Given the description of an element on the screen output the (x, y) to click on. 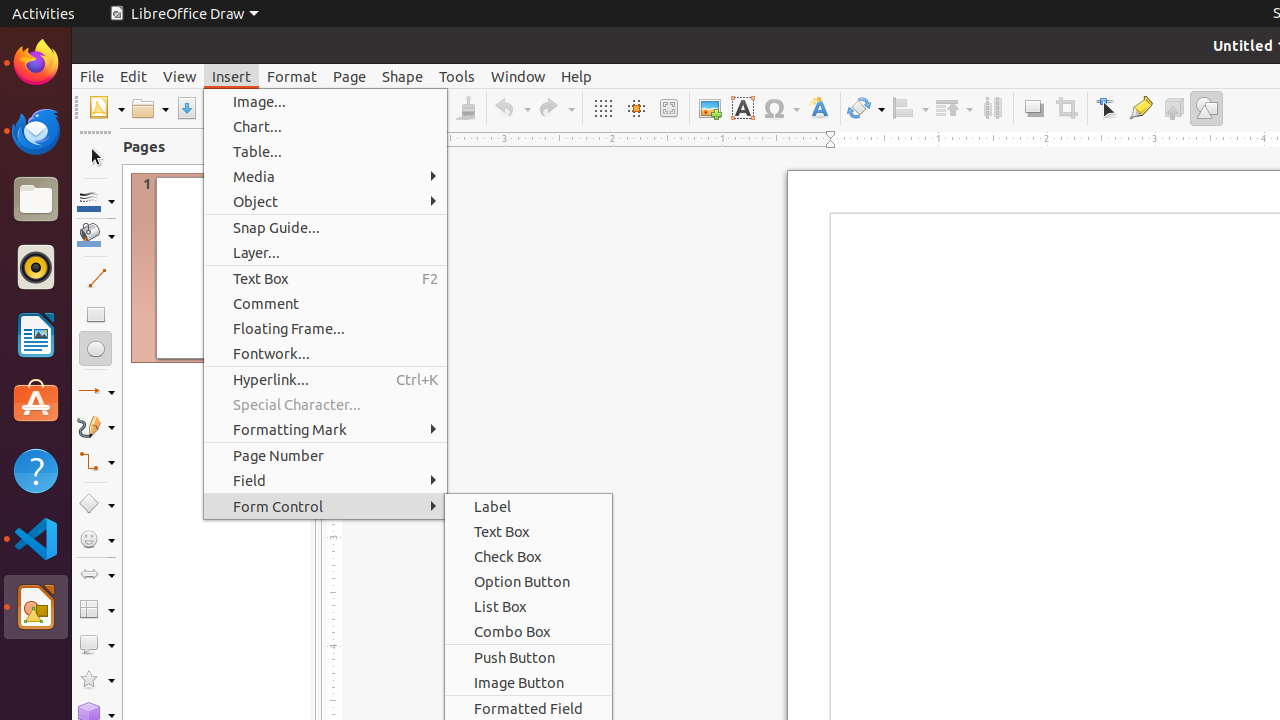
Table... Element type: menu-item (325, 151)
Fontwork Style Element type: toggle-button (819, 108)
Image Button Element type: check-menu-item (528, 682)
Clone Element type: push-button (465, 108)
Layer... Element type: menu-item (325, 252)
